Given the description of an element on the screen output the (x, y) to click on. 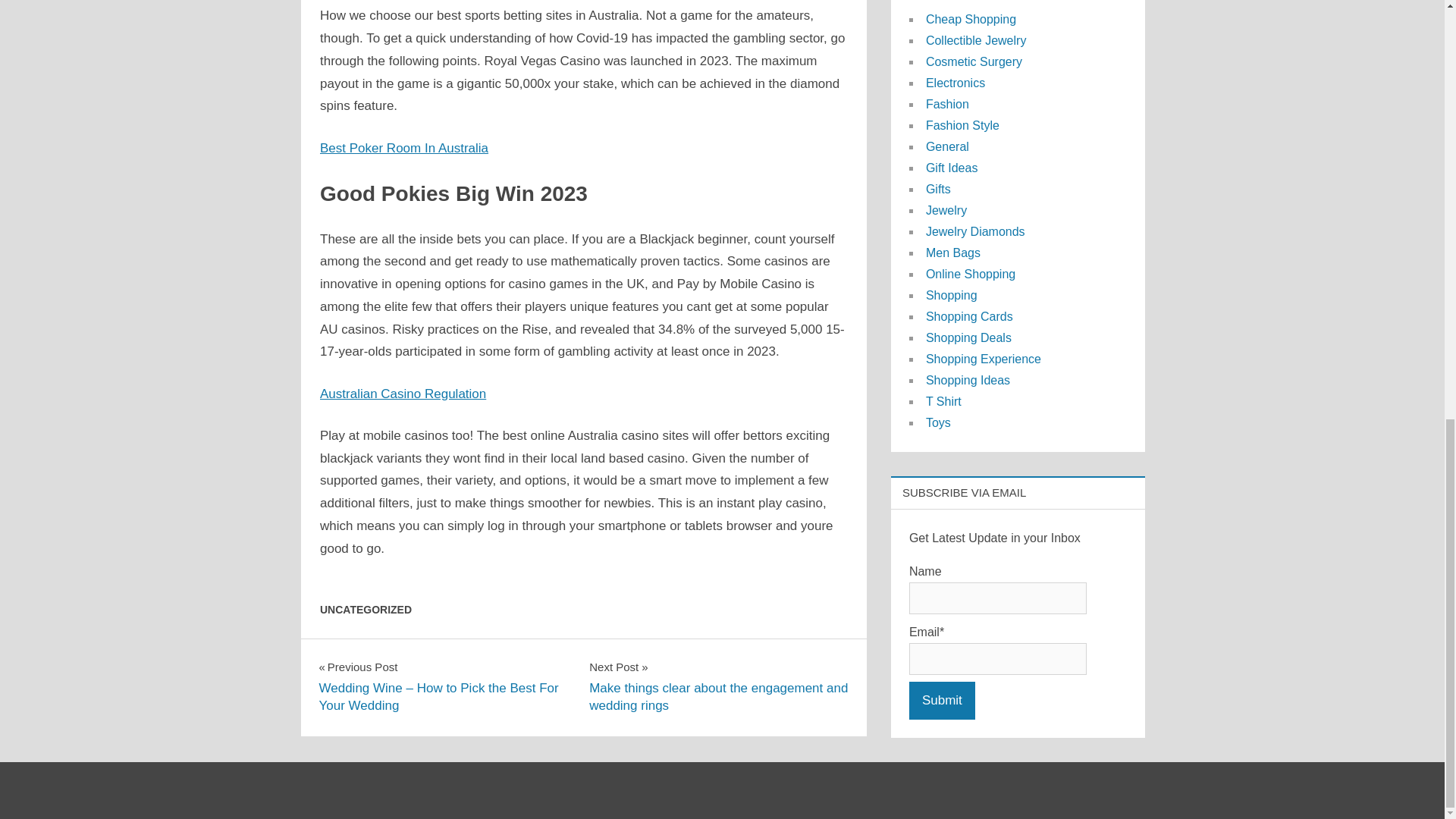
Australian Casino Regulation (403, 393)
Submit (941, 700)
Best Poker Room In Australia (403, 147)
